Given the description of an element on the screen output the (x, y) to click on. 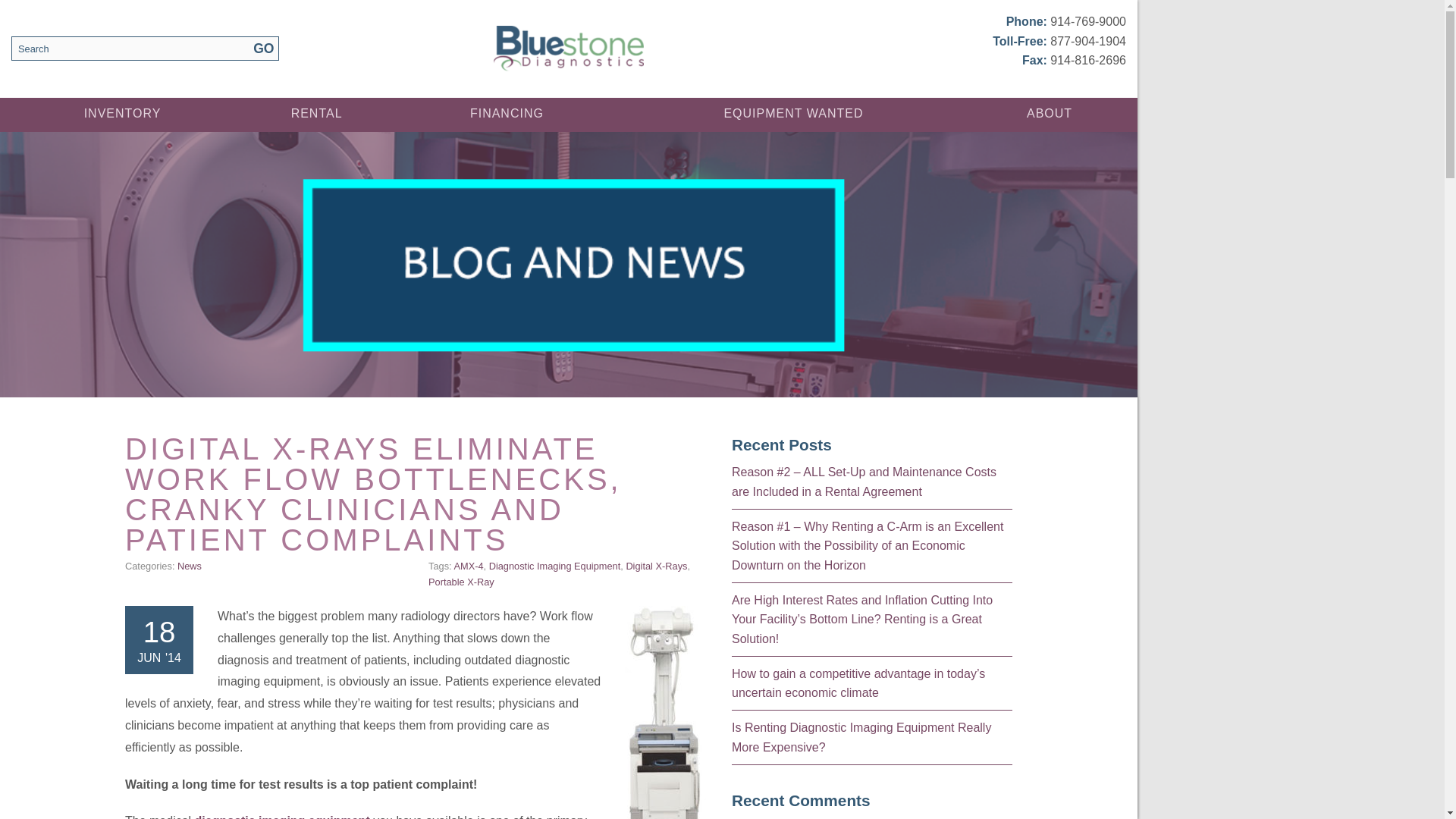
Search (144, 48)
FINANCING (506, 114)
RENTAL (315, 114)
Diagnostic Imaging Equipment (555, 565)
INVENTORY (121, 114)
GO (263, 48)
News (189, 565)
ABOUT (1048, 114)
GO (263, 48)
Digital X-Rays (656, 565)
diagnostic imaging equipment (282, 816)
GO (263, 48)
Portable X-Ray (461, 582)
AMX-4 (467, 565)
